Given the description of an element on the screen output the (x, y) to click on. 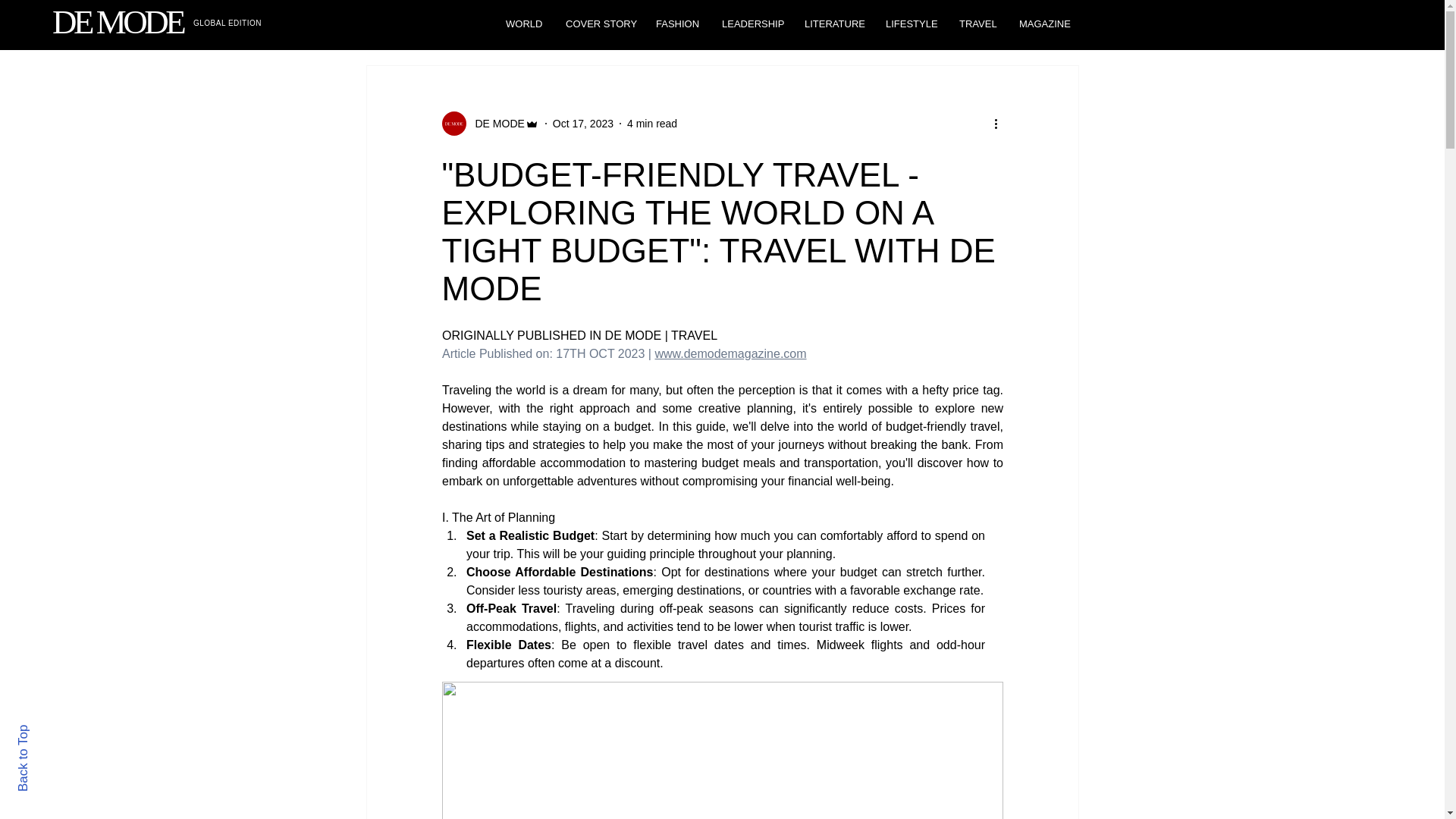
COVER STORY (599, 24)
WORLD (524, 24)
LIFESTYLE (911, 24)
DE MODE (494, 123)
DE MODE (489, 123)
4 min read (652, 122)
www.demodemagazine.co (724, 353)
Oct 17, 2023 (582, 122)
LITERATURE (834, 24)
TRAVEL (977, 24)
MAGAZINE (1044, 24)
Back to Top (49, 730)
FASHION (677, 24)
LEADERSHIP (751, 24)
DE MODE (117, 21)
